Given the description of an element on the screen output the (x, y) to click on. 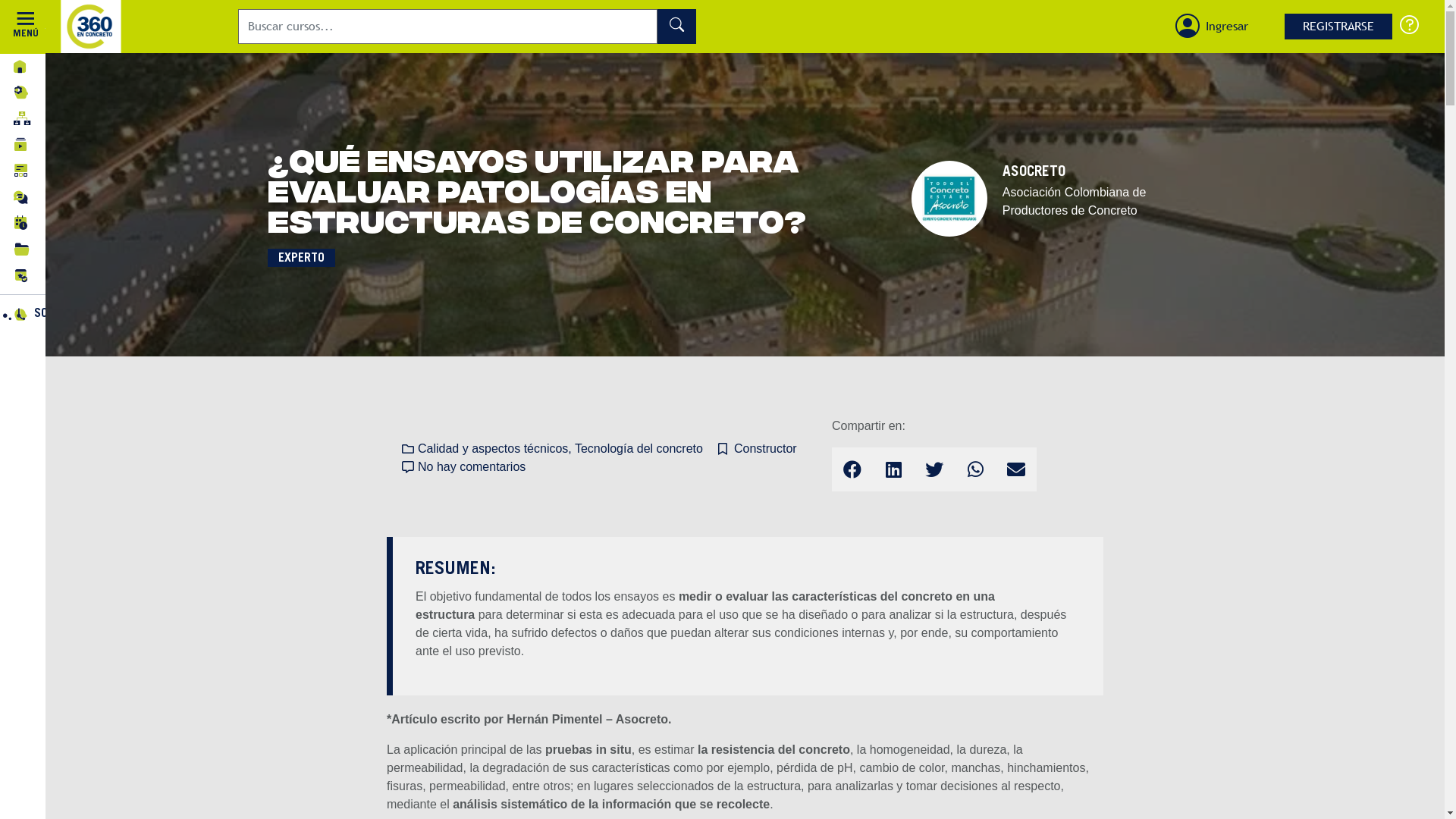
SOPORTE Element type: hover (1409, 24)
No hay comentarios Element type: text (463, 467)
Ingresar Element type: text (1226, 26)
SOPORTE Element type: text (85, 313)
REGISTRARSE Element type: text (1338, 26)
ASOCRETO Element type: text (1033, 172)
